Given the description of an element on the screen output the (x, y) to click on. 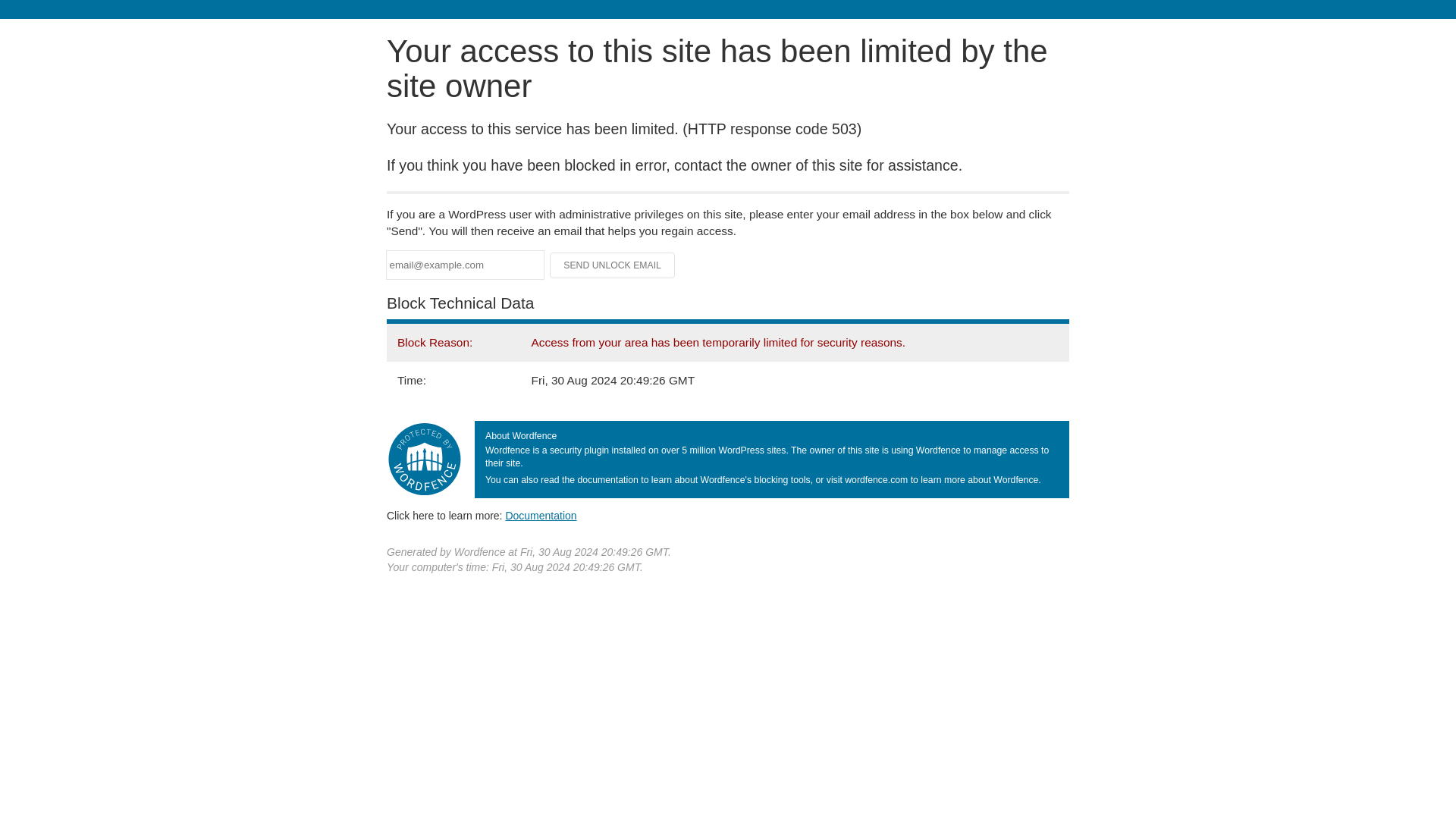
Documentation (540, 515)
Send Unlock Email (612, 265)
Send Unlock Email (612, 265)
